Given the description of an element on the screen output the (x, y) to click on. 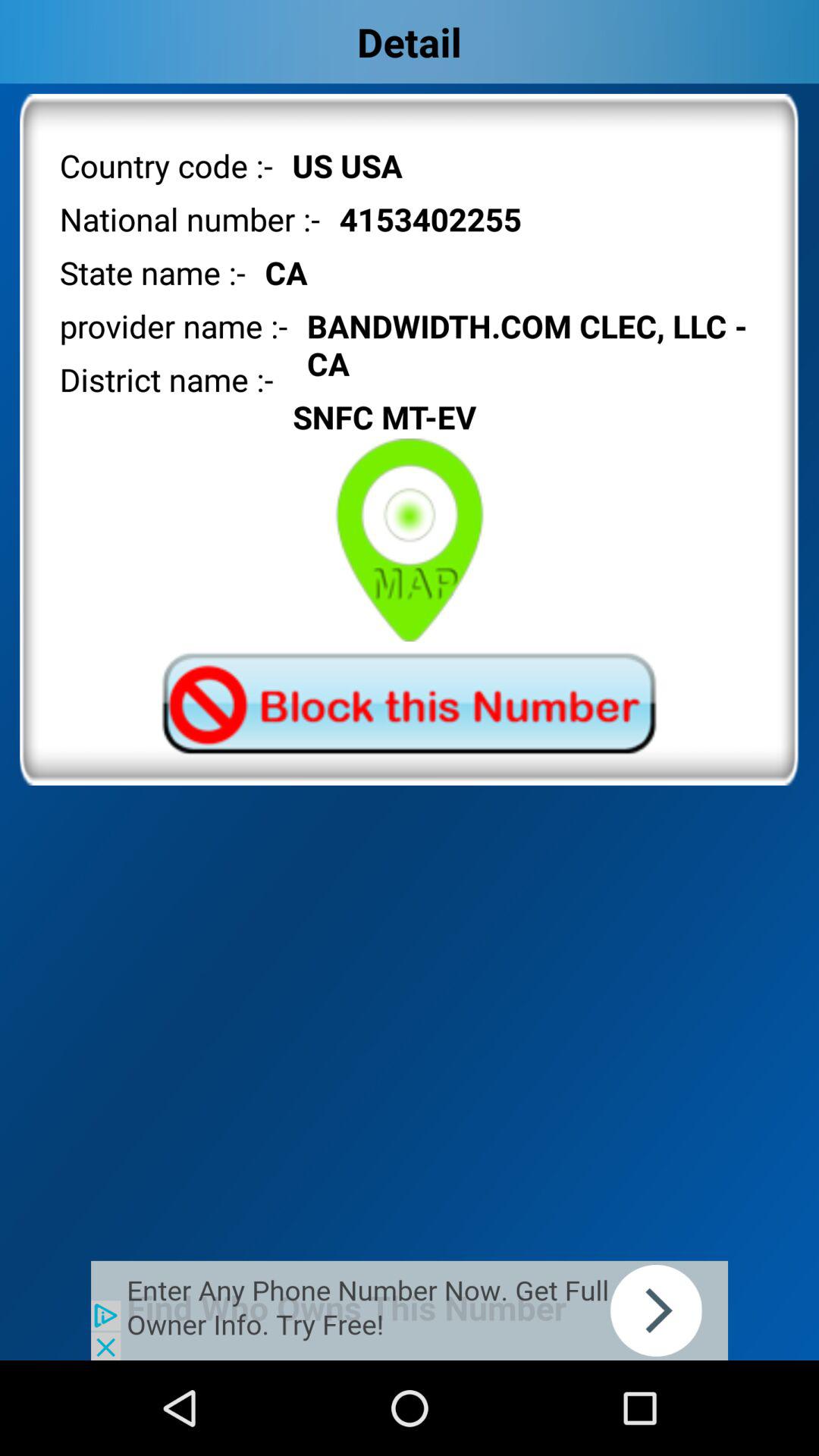
open map (409, 539)
